Given the description of an element on the screen output the (x, y) to click on. 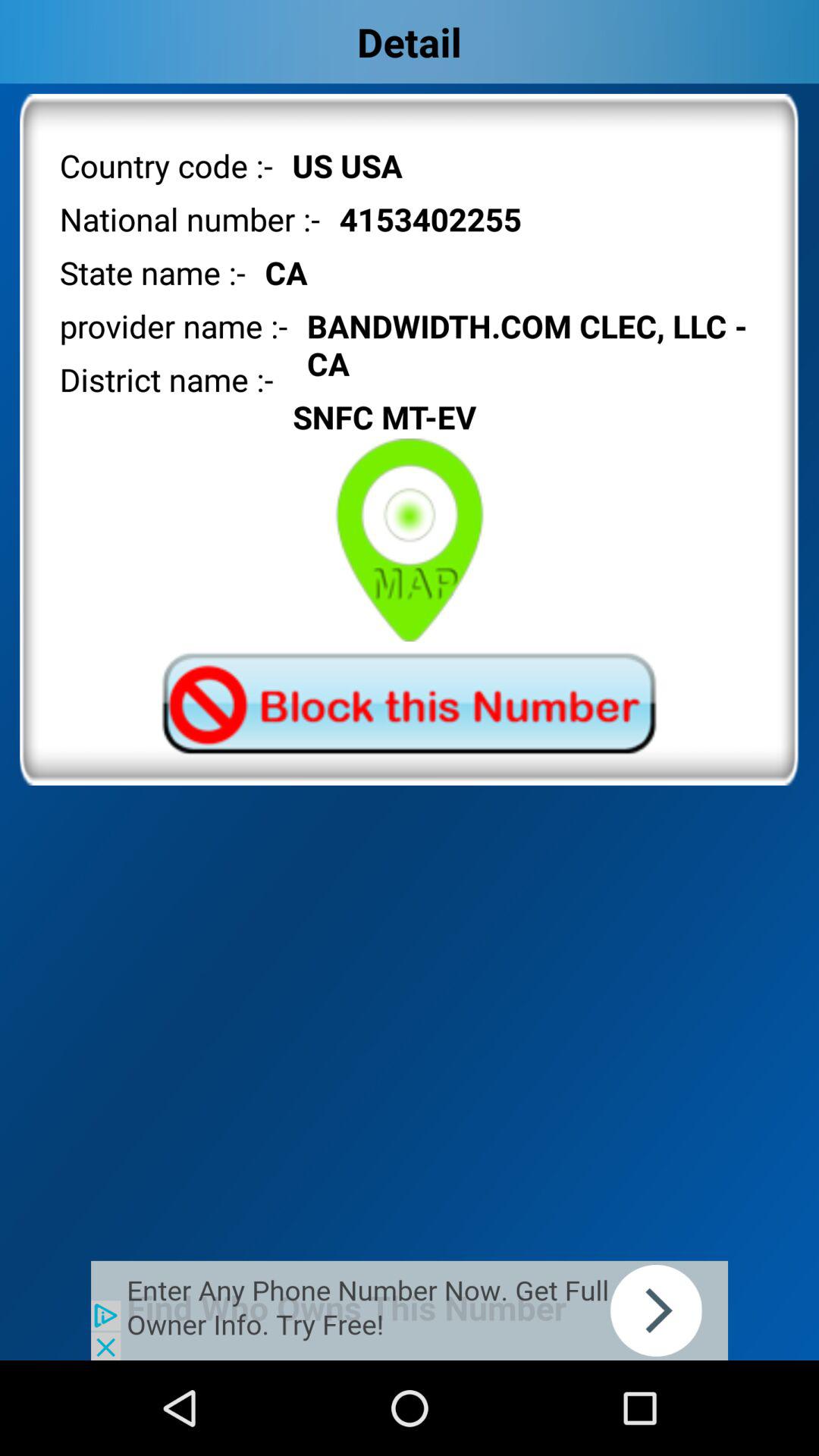
open map (409, 539)
